Given the description of an element on the screen output the (x, y) to click on. 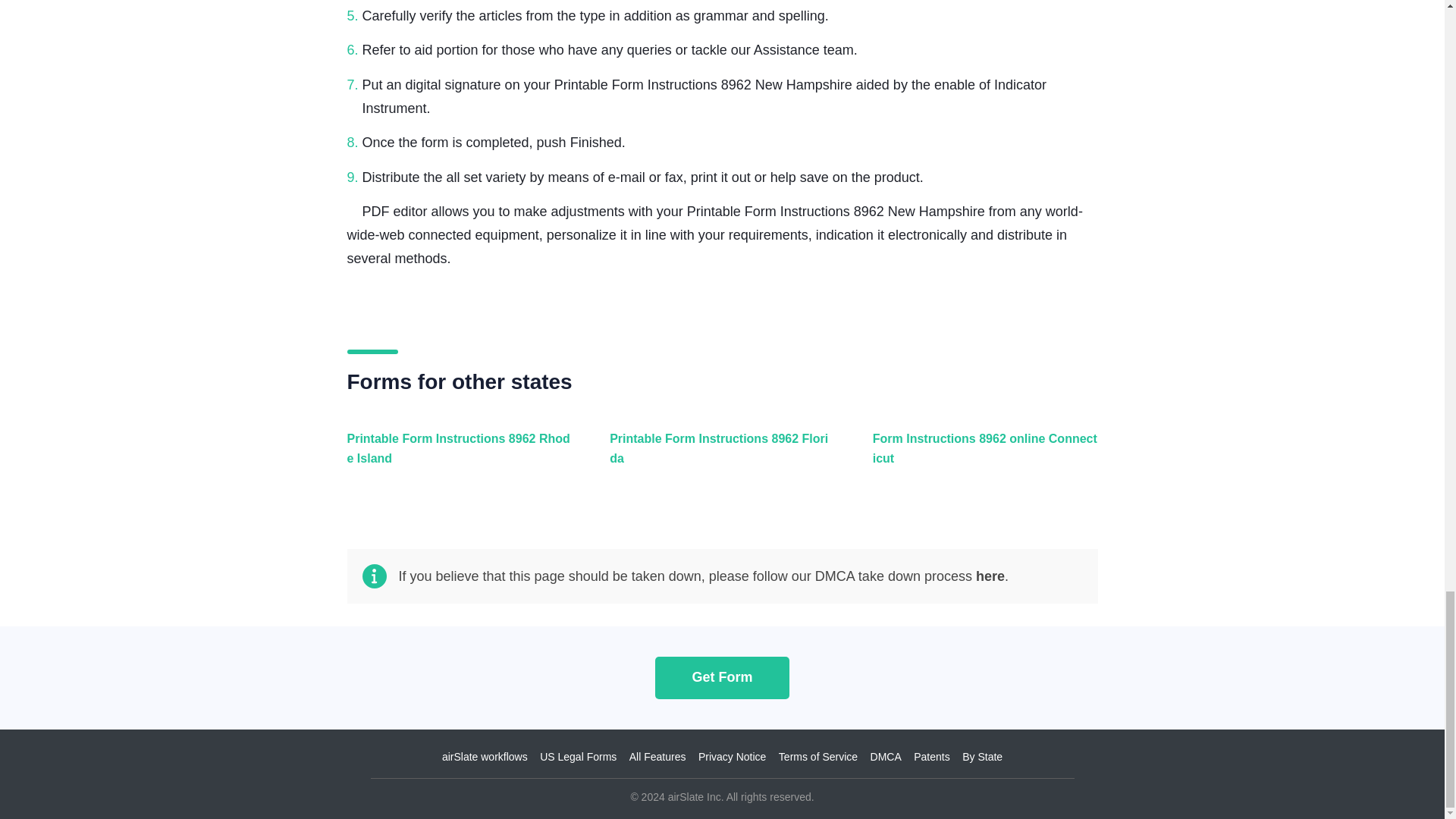
airSlate workflows (484, 756)
Form Instructions 8962 online Connecticut (981, 456)
US Legal Forms (577, 756)
Get Form (722, 676)
By State (982, 756)
Privacy Notice (731, 756)
All Features (656, 756)
here (989, 575)
Printable Form Instructions 8962 Florida (718, 456)
DMCA (885, 756)
Printable Form Instructions 8962 Rhode Island (456, 456)
Terms of Service (817, 756)
Patents (931, 756)
